Given the description of an element on the screen output the (x, y) to click on. 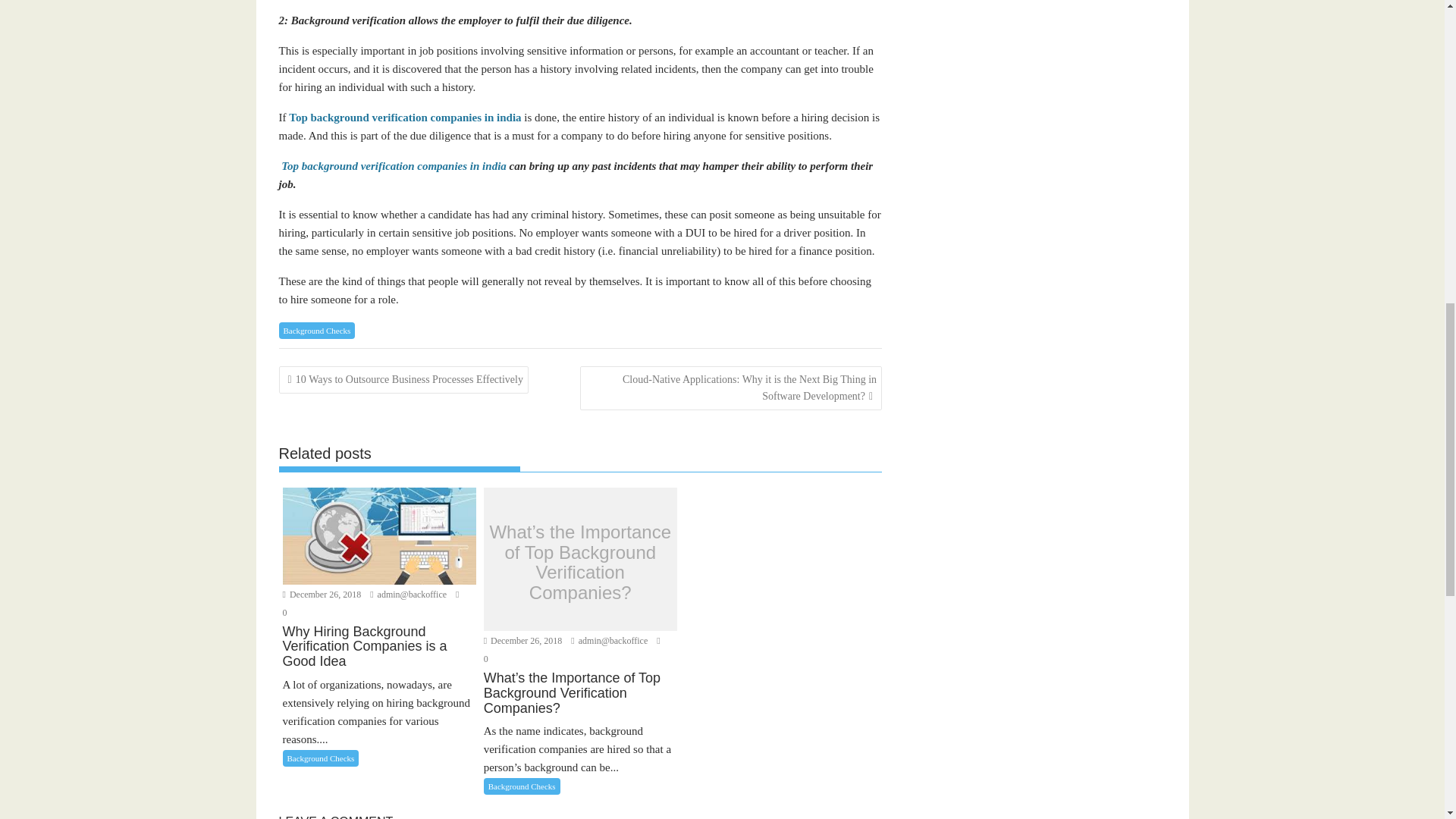
Top background verification companies in india (393, 165)
Top background verification companies in india (406, 117)
Background Checks (317, 330)
